Given the description of an element on the screen output the (x, y) to click on. 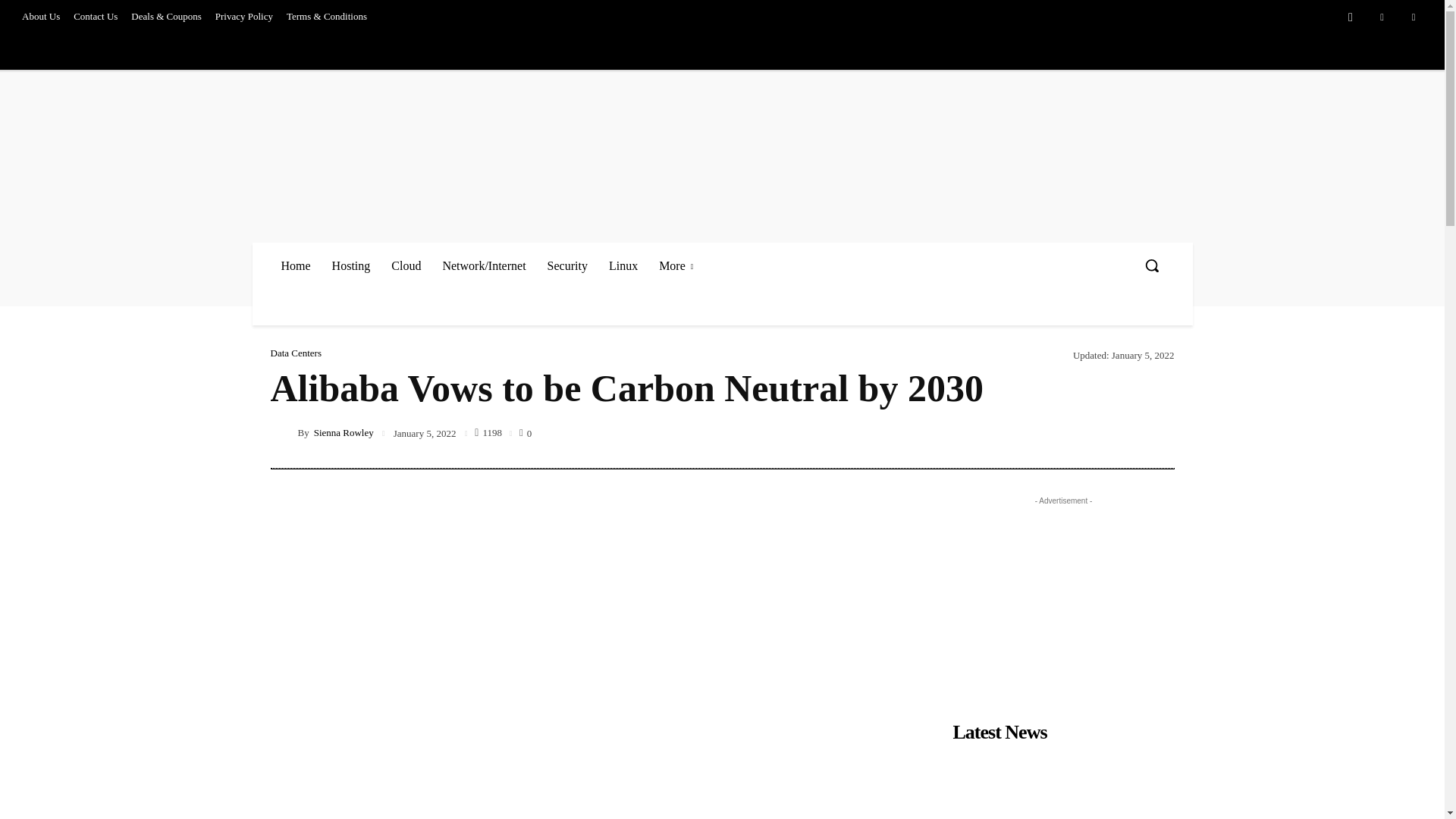
About Us (40, 16)
Twitter (1413, 17)
Facebook (1351, 17)
Pinterest (1382, 17)
Sienna Rowley (283, 431)
Contact Us (94, 16)
Privacy Policy (243, 16)
